Given the description of an element on the screen output the (x, y) to click on. 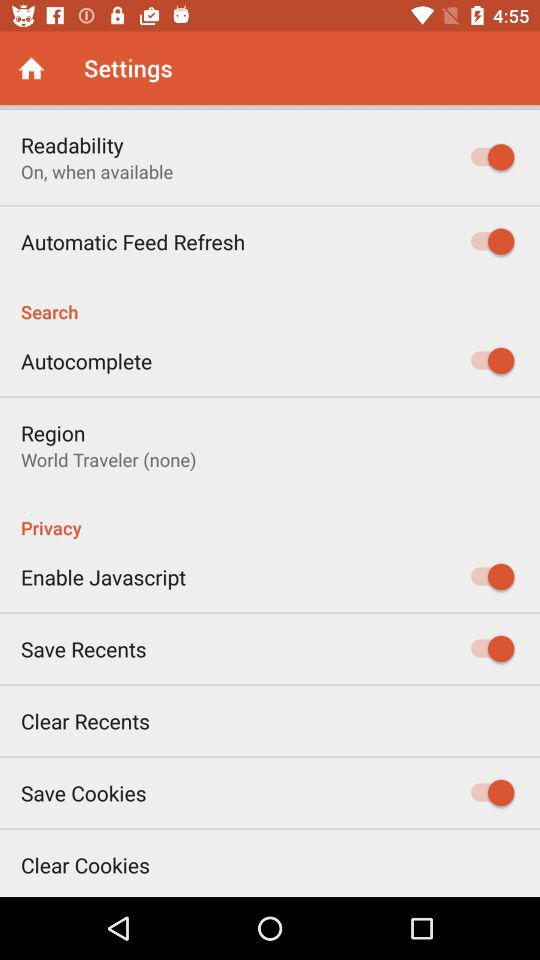
turn off the item above on, when available (72, 144)
